Given the description of an element on the screen output the (x, y) to click on. 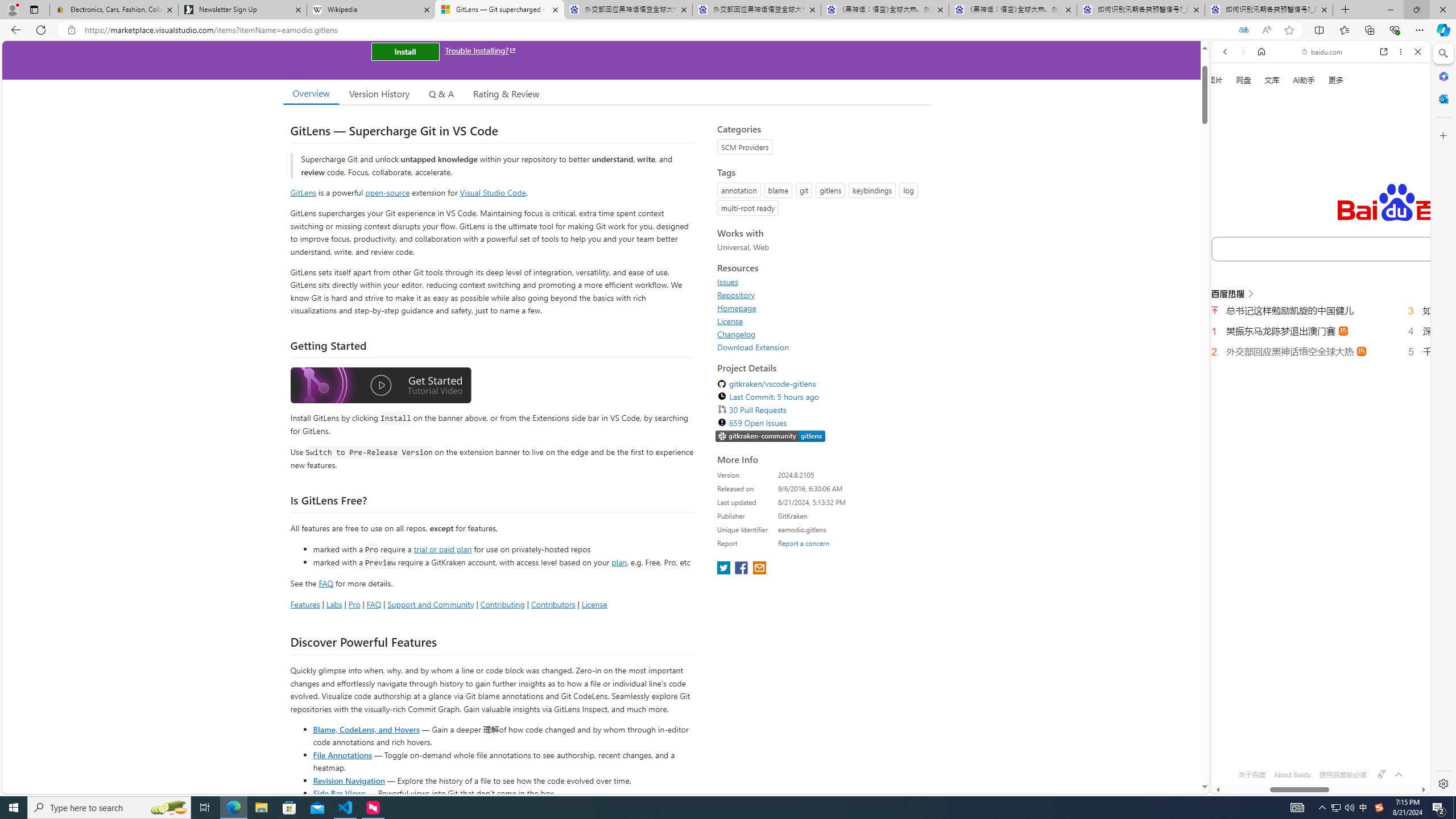
trial or paid plan (442, 548)
Install (405, 51)
Labs (334, 603)
Report a concern (803, 542)
